Given the description of an element on the screen output the (x, y) to click on. 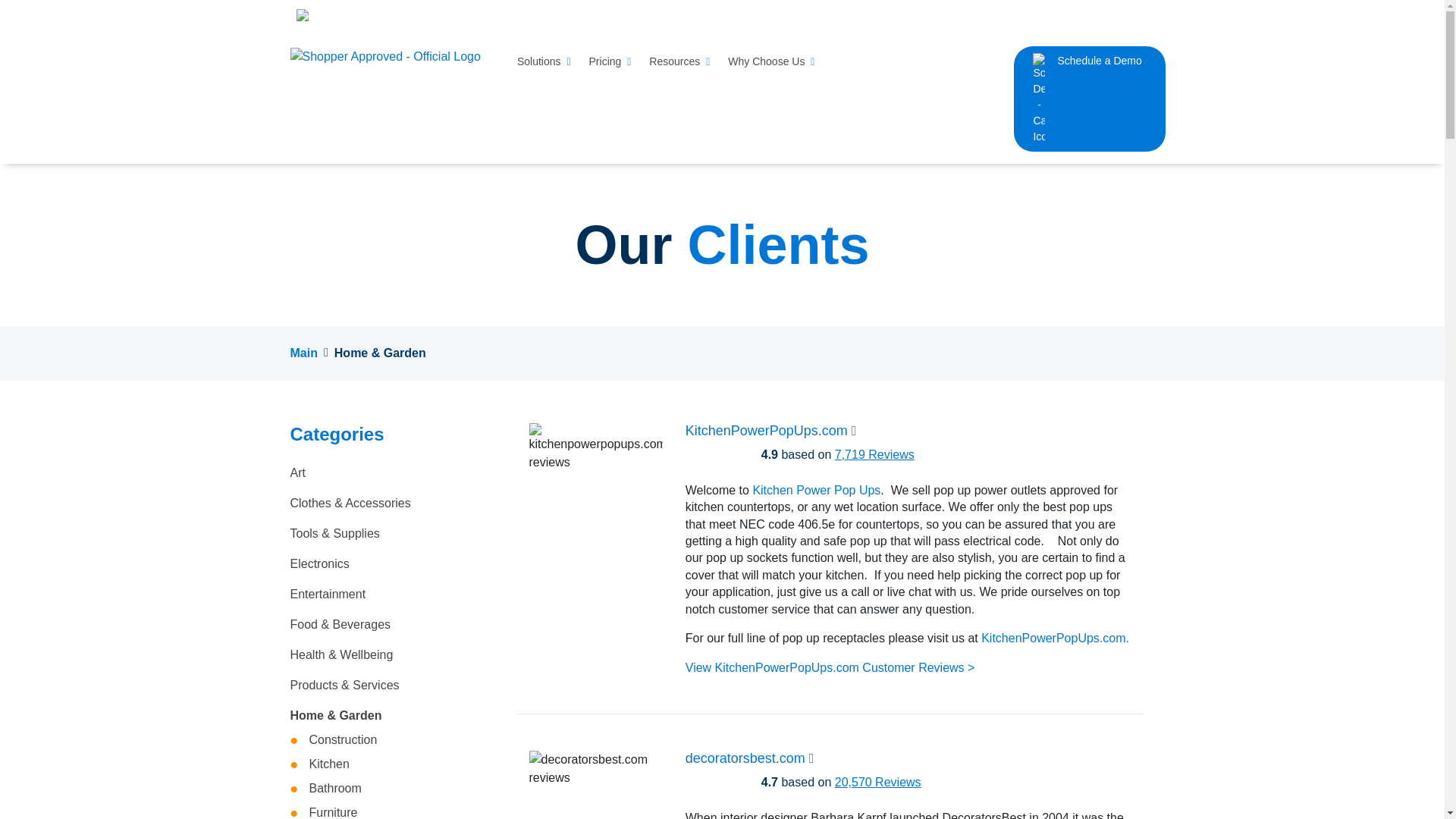
Resources (679, 61)
Contact Us (1080, 15)
Solutions (543, 61)
Write a Review (917, 15)
Why Choose Us (771, 61)
Pricing (610, 61)
Log In (1136, 15)
